Given the description of an element on the screen output the (x, y) to click on. 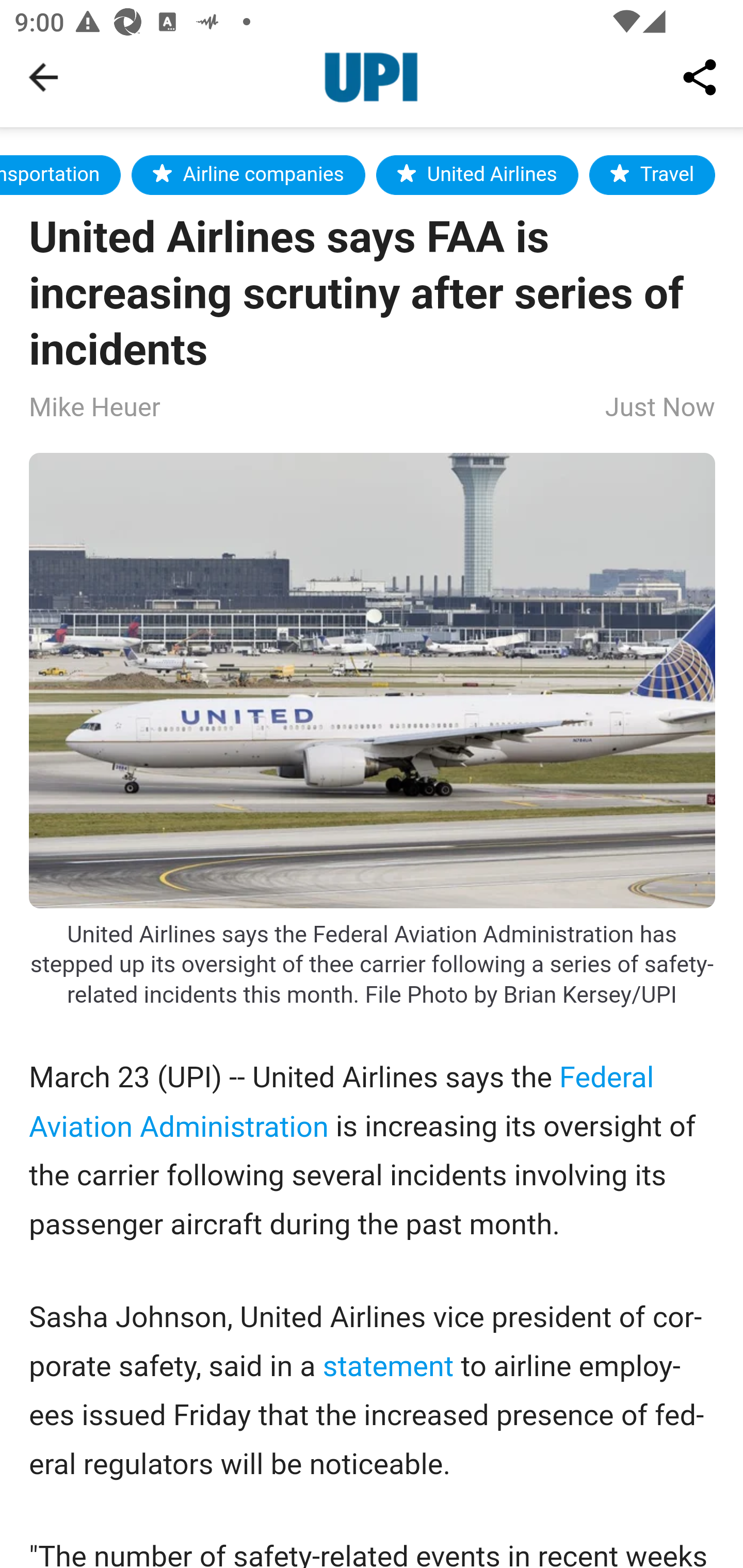
Transportation (61, 174)
Airline companies (248, 174)
United Airlines (477, 174)
Travel (652, 174)
Federal Aviation Administration (341, 1101)
statement (387, 1365)
